Given the description of an element on the screen output the (x, y) to click on. 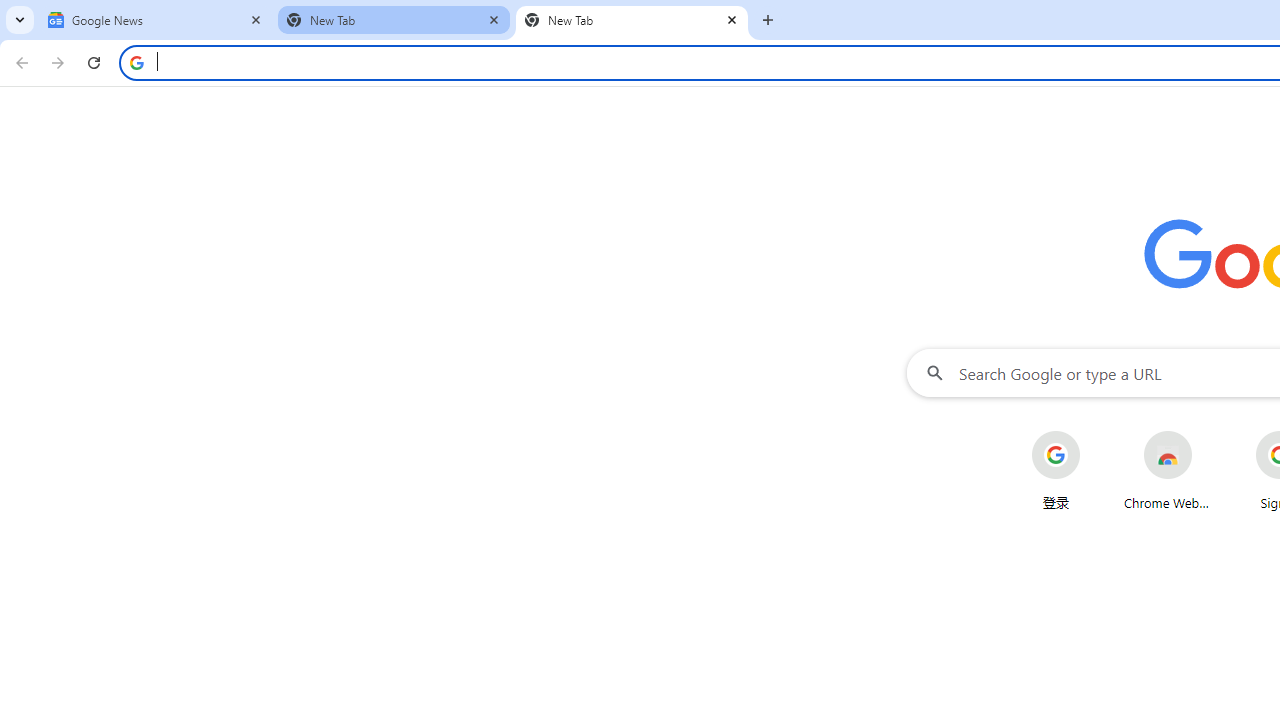
New Tab (632, 20)
Chrome Web Store (1167, 470)
More actions for Chrome Web Store shortcut (1208, 433)
Google News (156, 20)
